Given the description of an element on the screen output the (x, y) to click on. 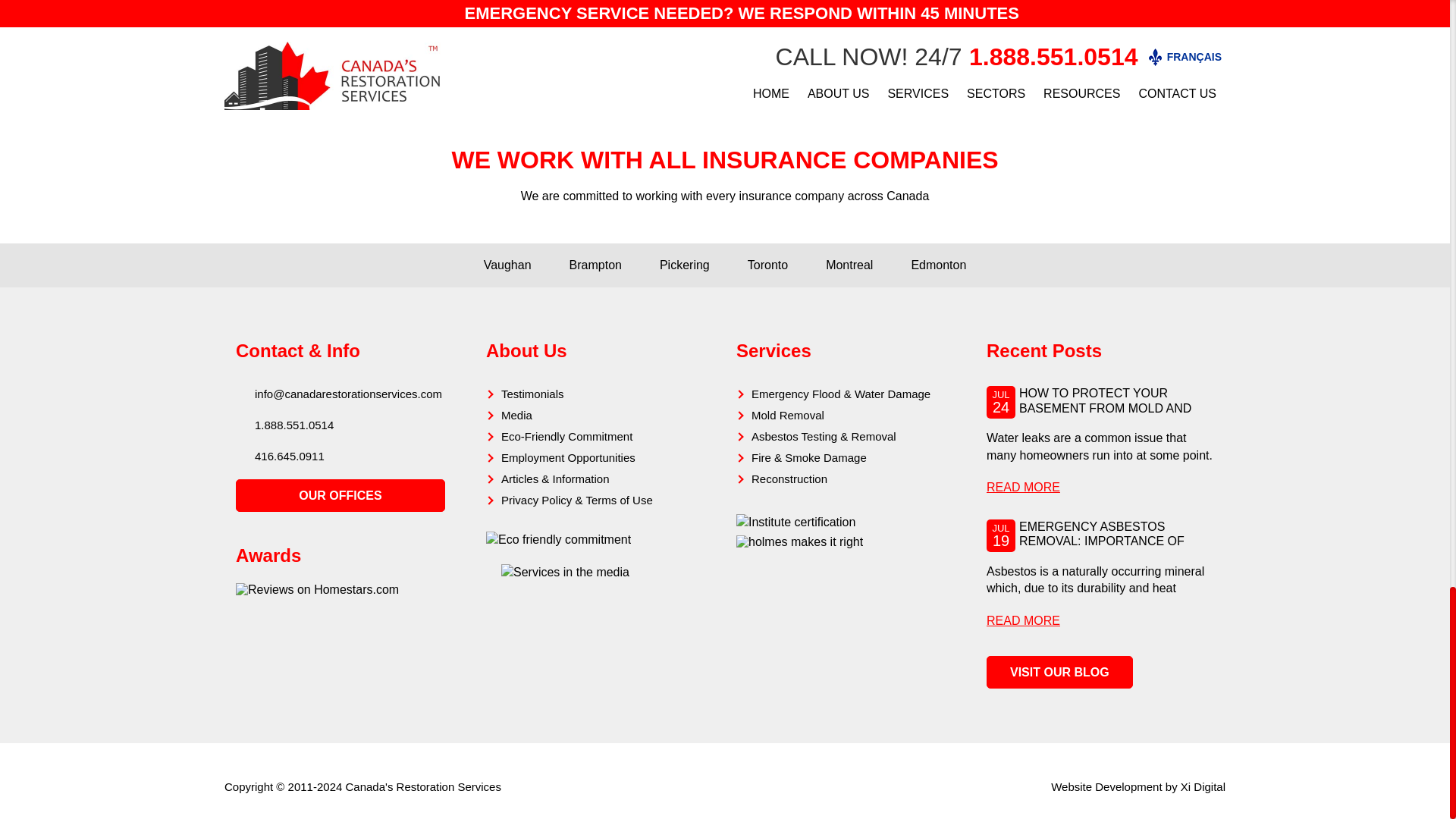
holmes makes it right (799, 541)
